Given the description of an element on the screen output the (x, y) to click on. 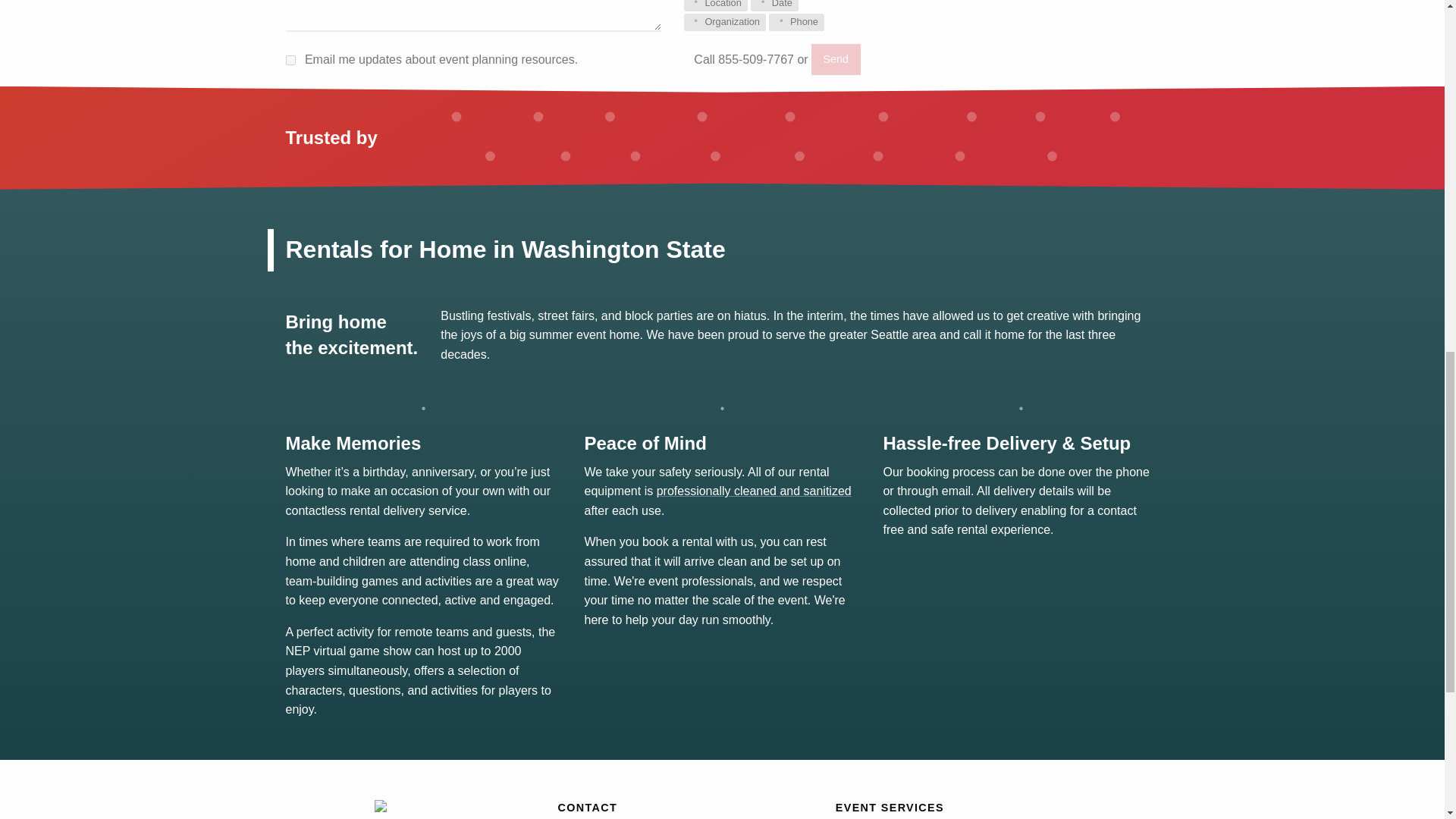
on (290, 60)
Send (835, 59)
Date (774, 6)
CONTACT (587, 807)
professionally cleaned and sanitized (753, 490)
Organization (724, 22)
Location (716, 6)
Phone (796, 22)
